Given the description of an element on the screen output the (x, y) to click on. 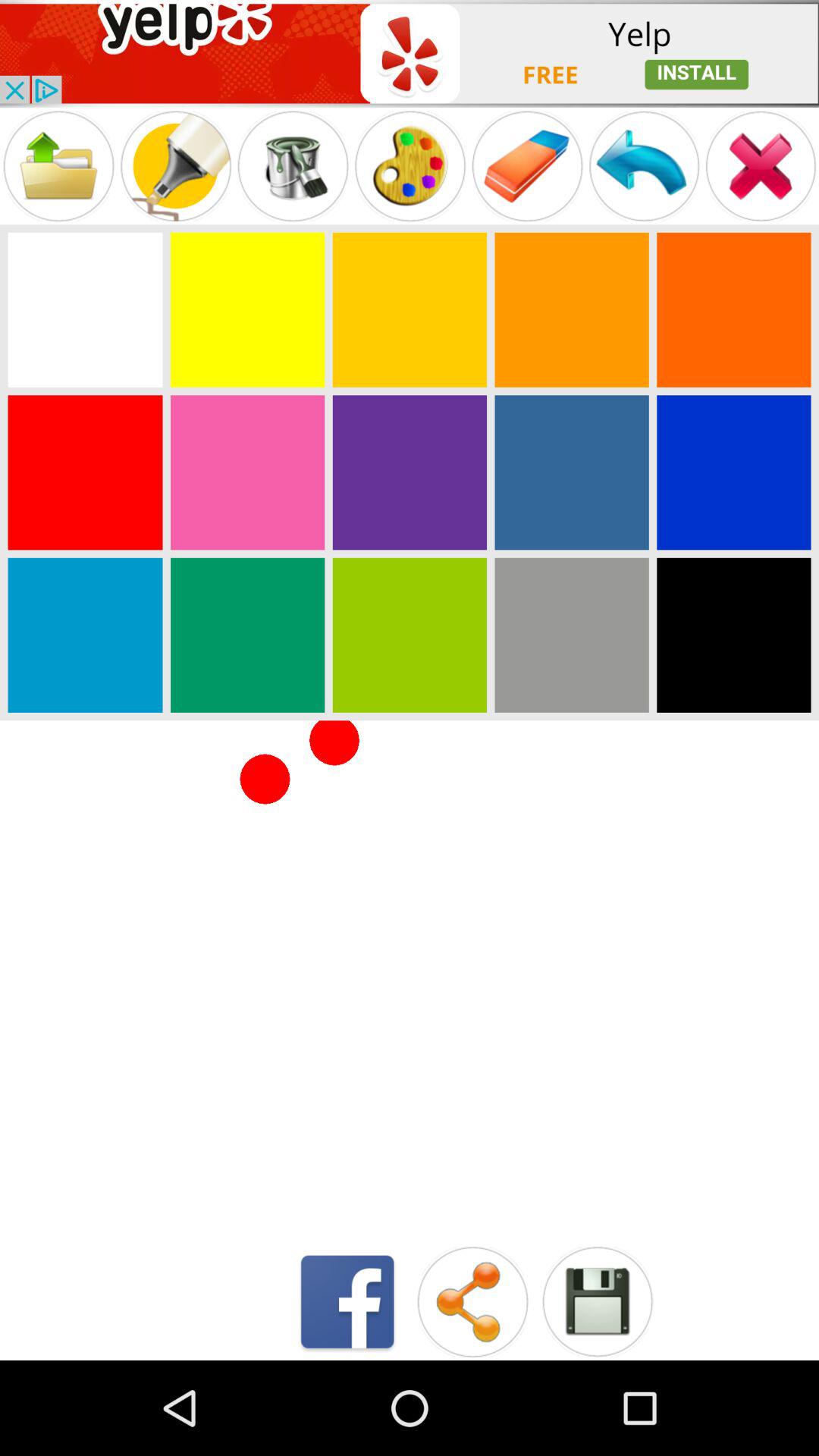
black color button (733, 634)
